Given the description of an element on the screen output the (x, y) to click on. 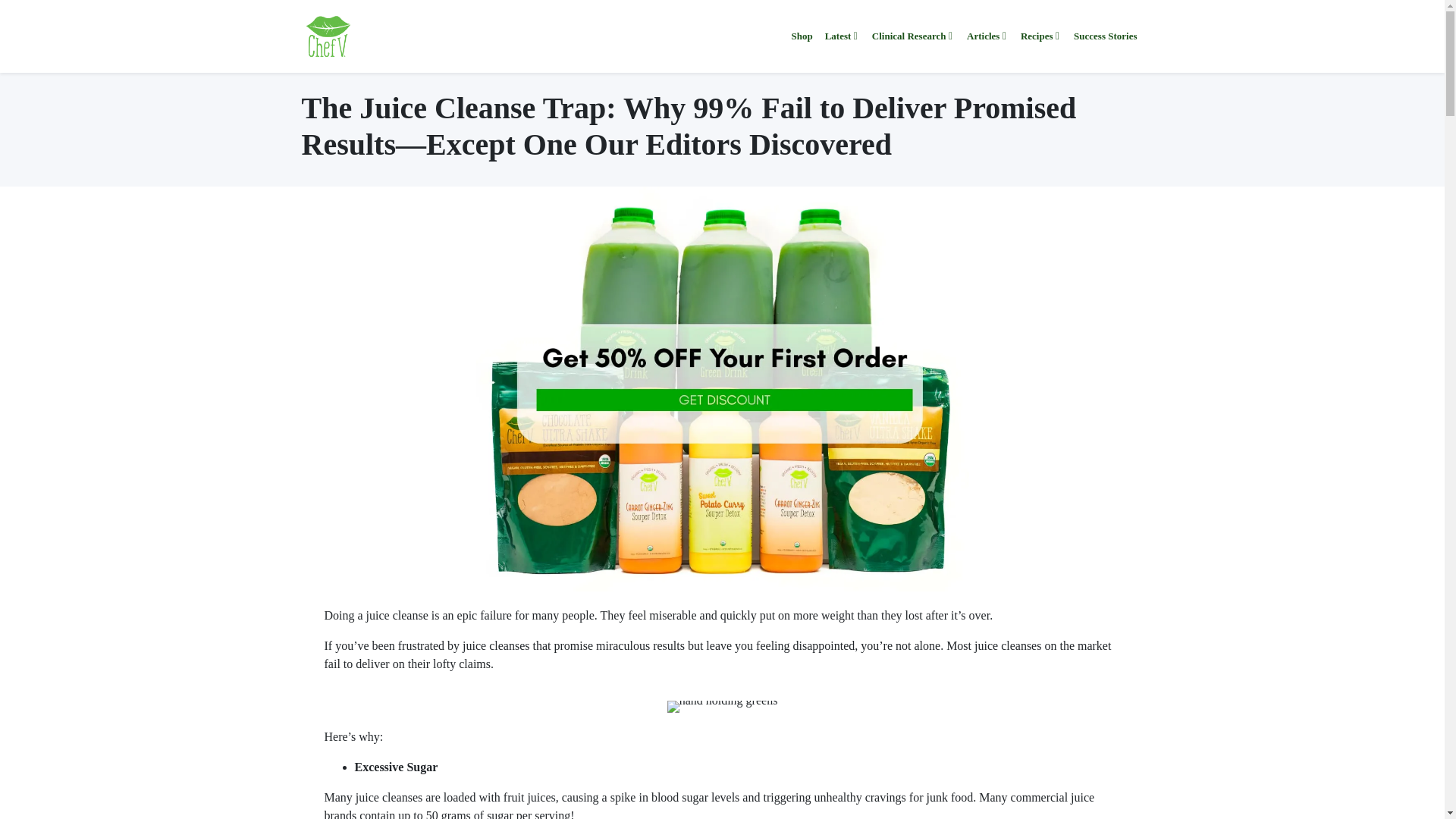
Recipes (1040, 35)
Articles (987, 35)
Articles (987, 35)
Clinical Research (913, 35)
Shop (801, 35)
Chef V's Blog (328, 35)
Latest (842, 35)
Success Stories (1104, 35)
Clinical Research (913, 35)
Latest (842, 35)
Shop (801, 35)
